Given the description of an element on the screen output the (x, y) to click on. 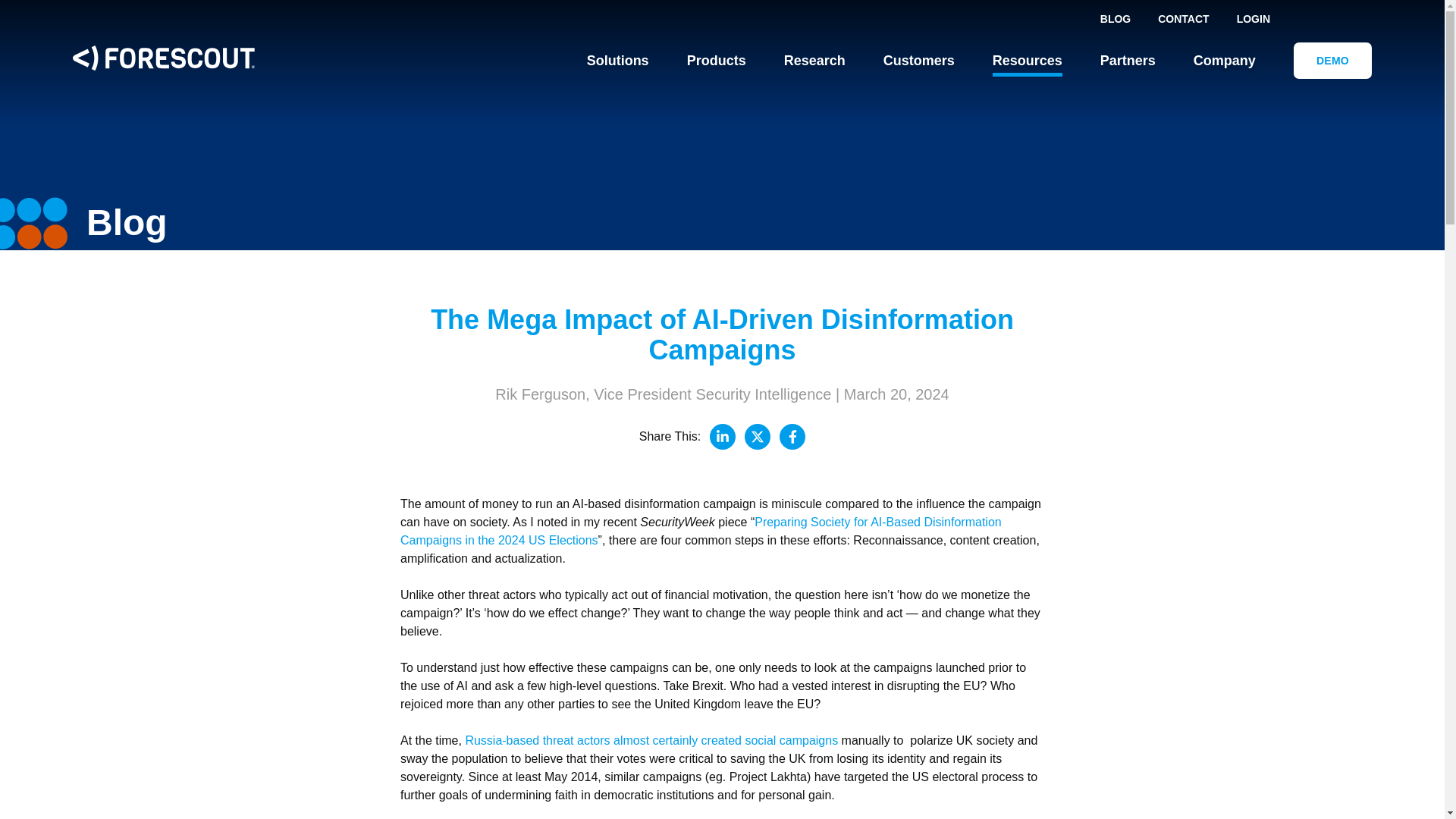
Solutions (617, 60)
Login (1253, 18)
CONTACT (1182, 18)
Solutions (617, 60)
Forescout (163, 57)
Blog (1115, 18)
Forescout (163, 60)
LOGIN (1253, 18)
BLOG (1115, 18)
Products (716, 60)
